Given the description of an element on the screen output the (x, y) to click on. 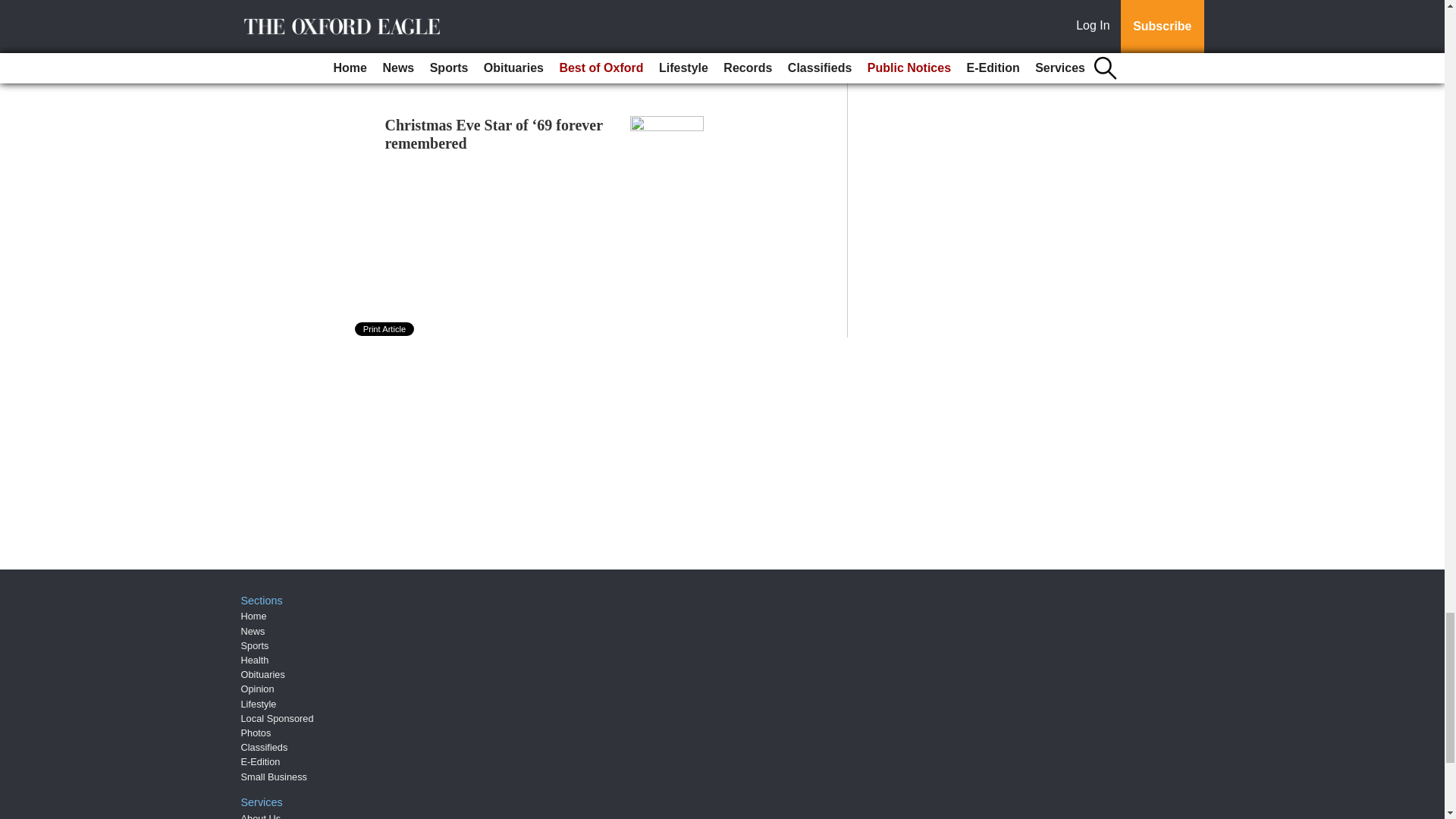
Health (255, 659)
Home (253, 615)
Sports (255, 645)
News (252, 631)
Print Article (384, 328)
